Given the description of an element on the screen output the (x, y) to click on. 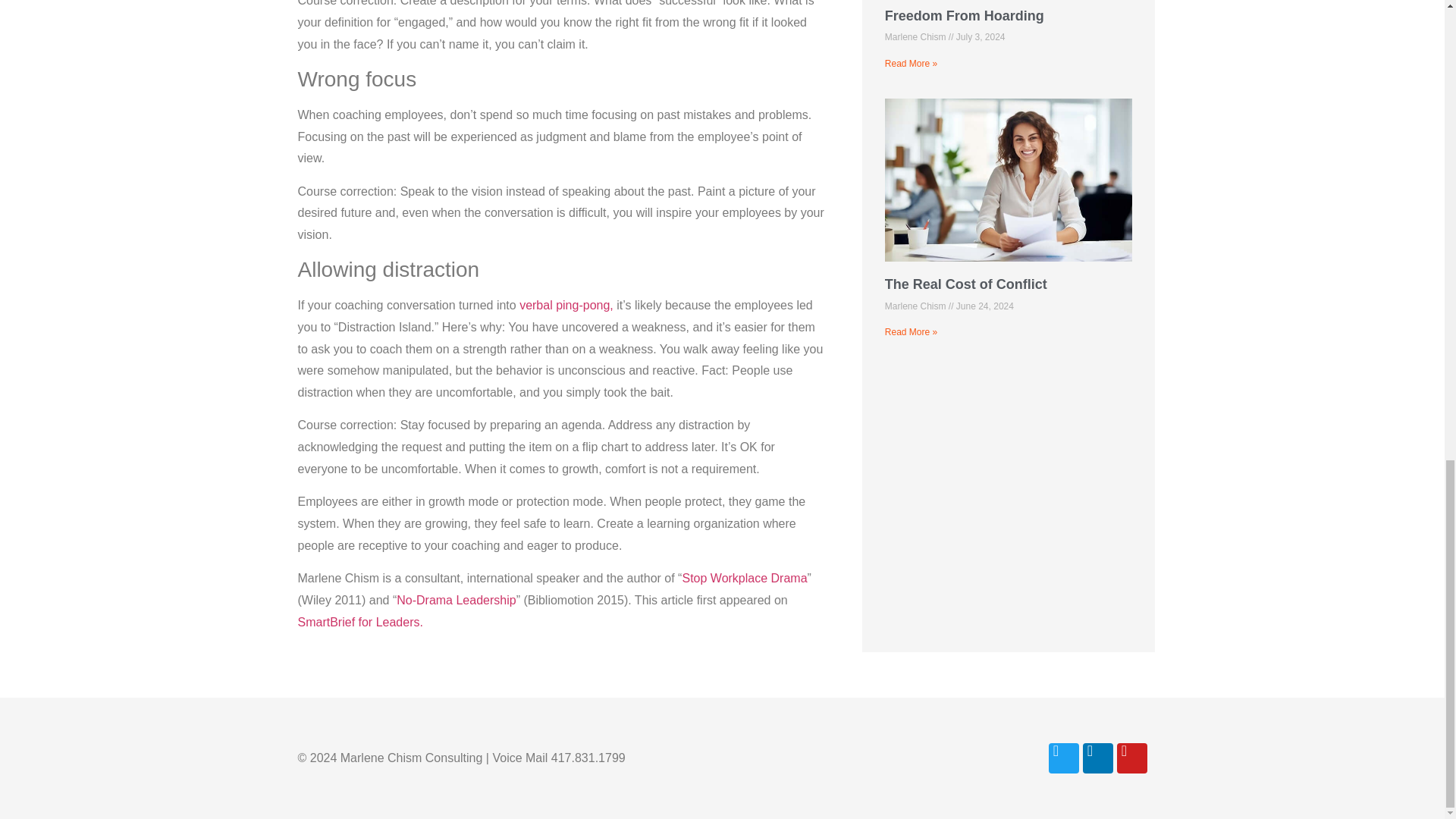
Stop Workplace Drama (743, 577)
verbal ping-pong, (567, 305)
No-Drama Leadership (455, 599)
SmartBrief for Leaders.  (361, 621)
